Given the description of an element on the screen output the (x, y) to click on. 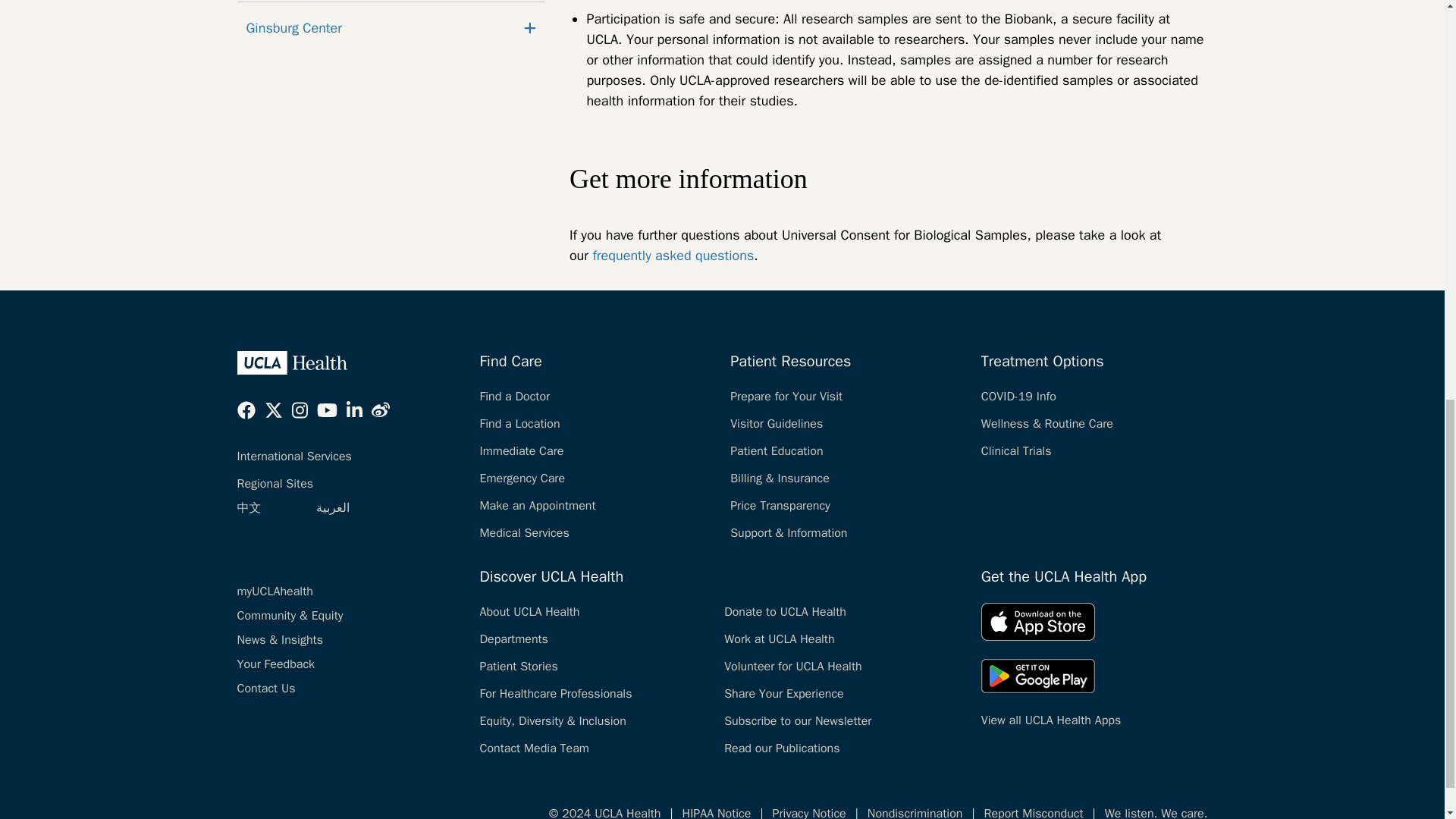
myUCLAhealth Login. (274, 590)
